Given the description of an element on the screen output the (x, y) to click on. 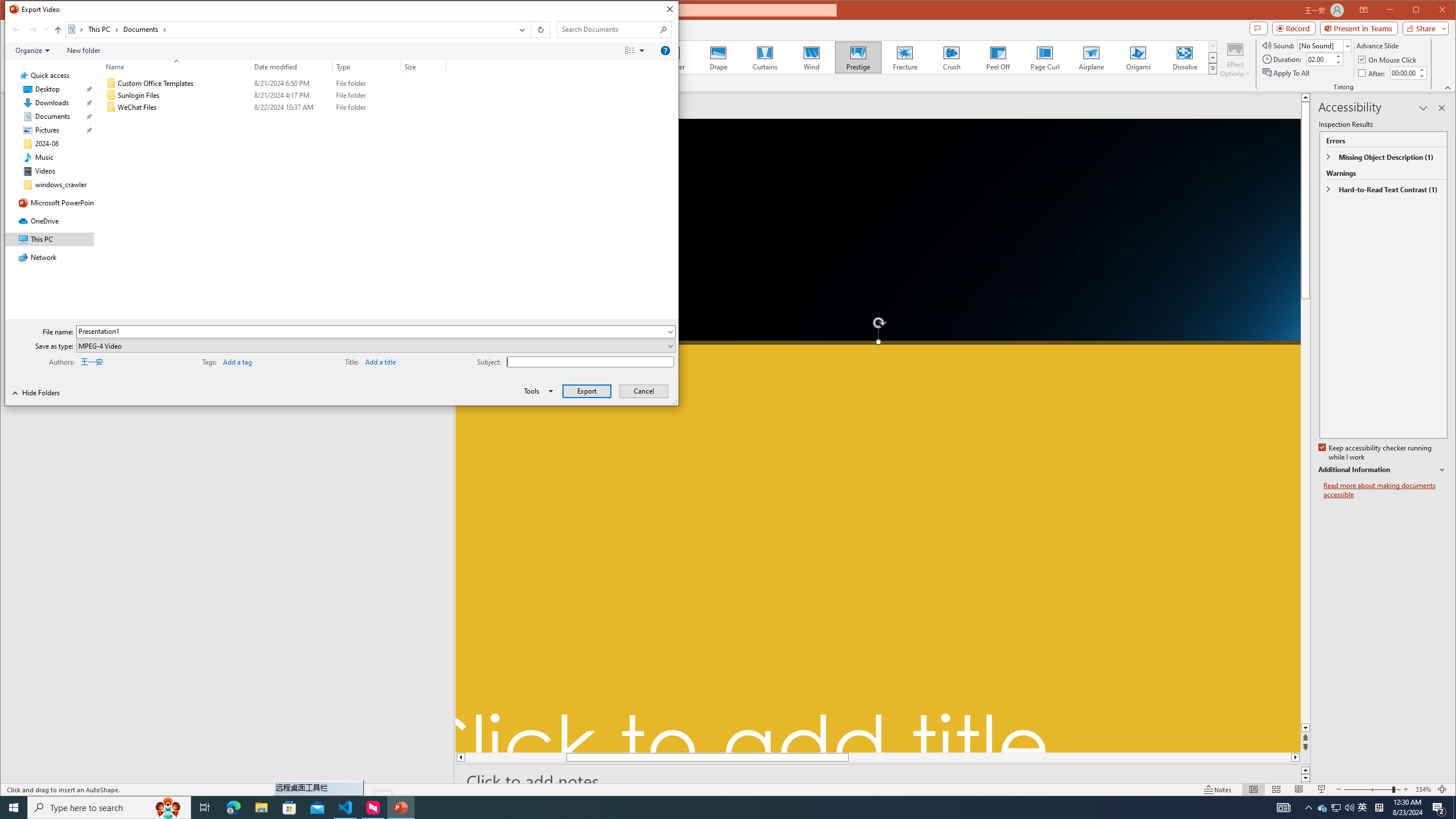
Address: Documents (288, 29)
Peel Off (998, 57)
Fracture (904, 57)
After (1372, 72)
Size (423, 107)
Organize (32, 50)
Documents (144, 29)
